Given the description of an element on the screen output the (x, y) to click on. 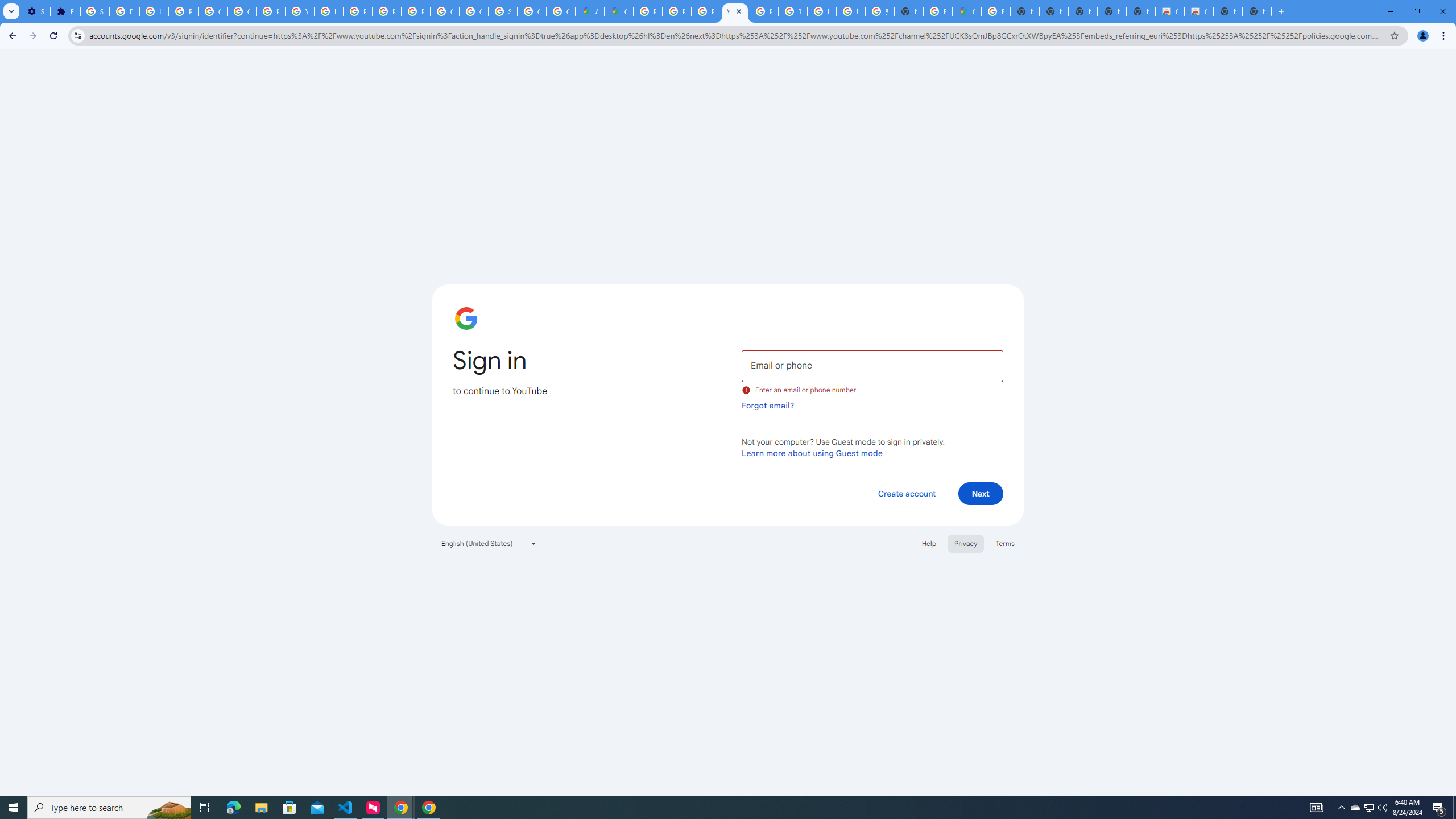
Sign in - Google Accounts (502, 11)
https://scholar.google.com/ (327, 11)
Delete photos & videos - Computer - Google Photos Help (124, 11)
YouTube (734, 11)
Explore new street-level details - Google Maps Help (938, 11)
Create account (905, 493)
New Tab (908, 11)
YouTube (300, 11)
Google Maps (967, 11)
